Given the description of an element on the screen output the (x, y) to click on. 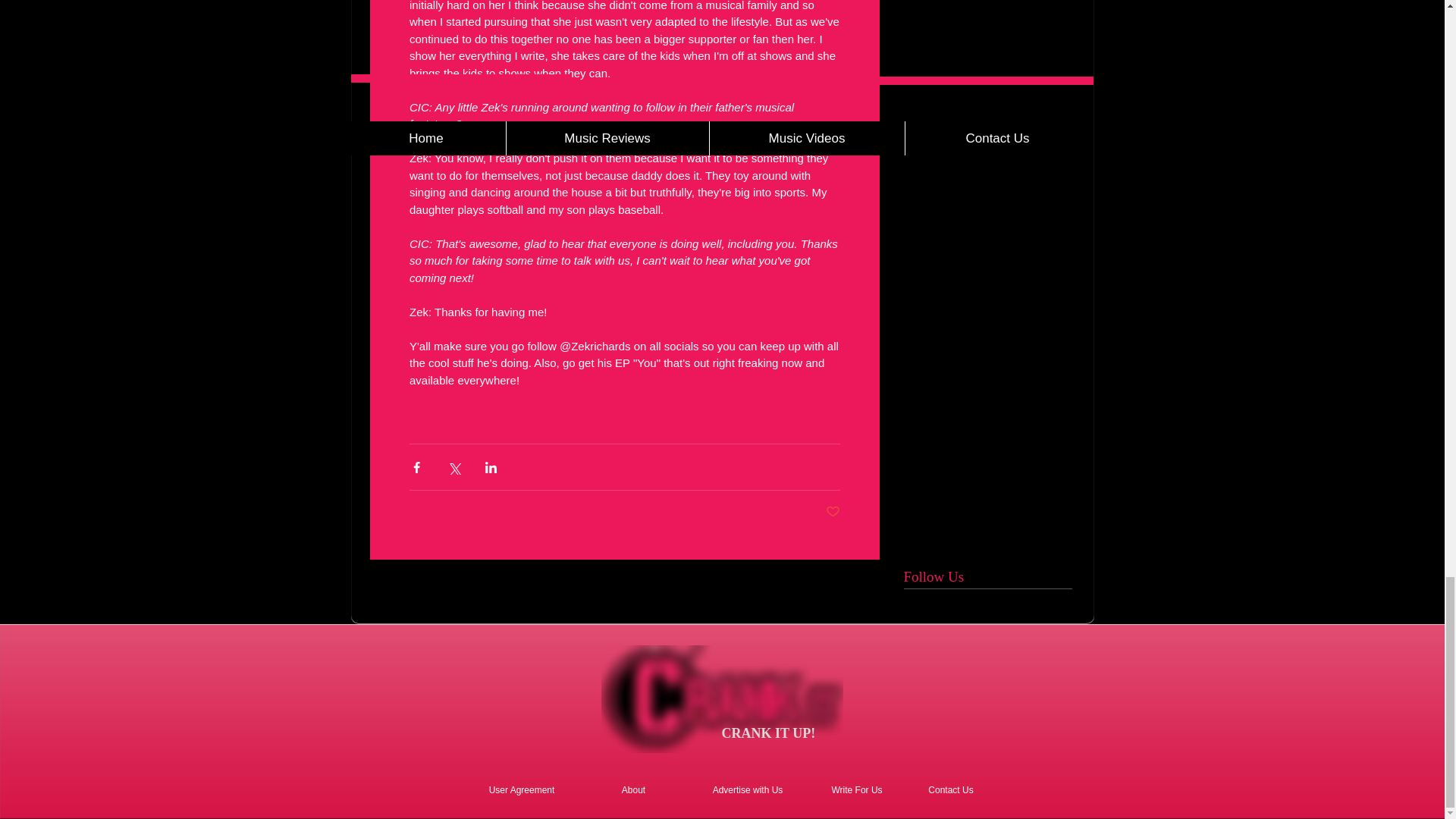
Post not marked as liked (832, 512)
